Given the description of an element on the screen output the (x, y) to click on. 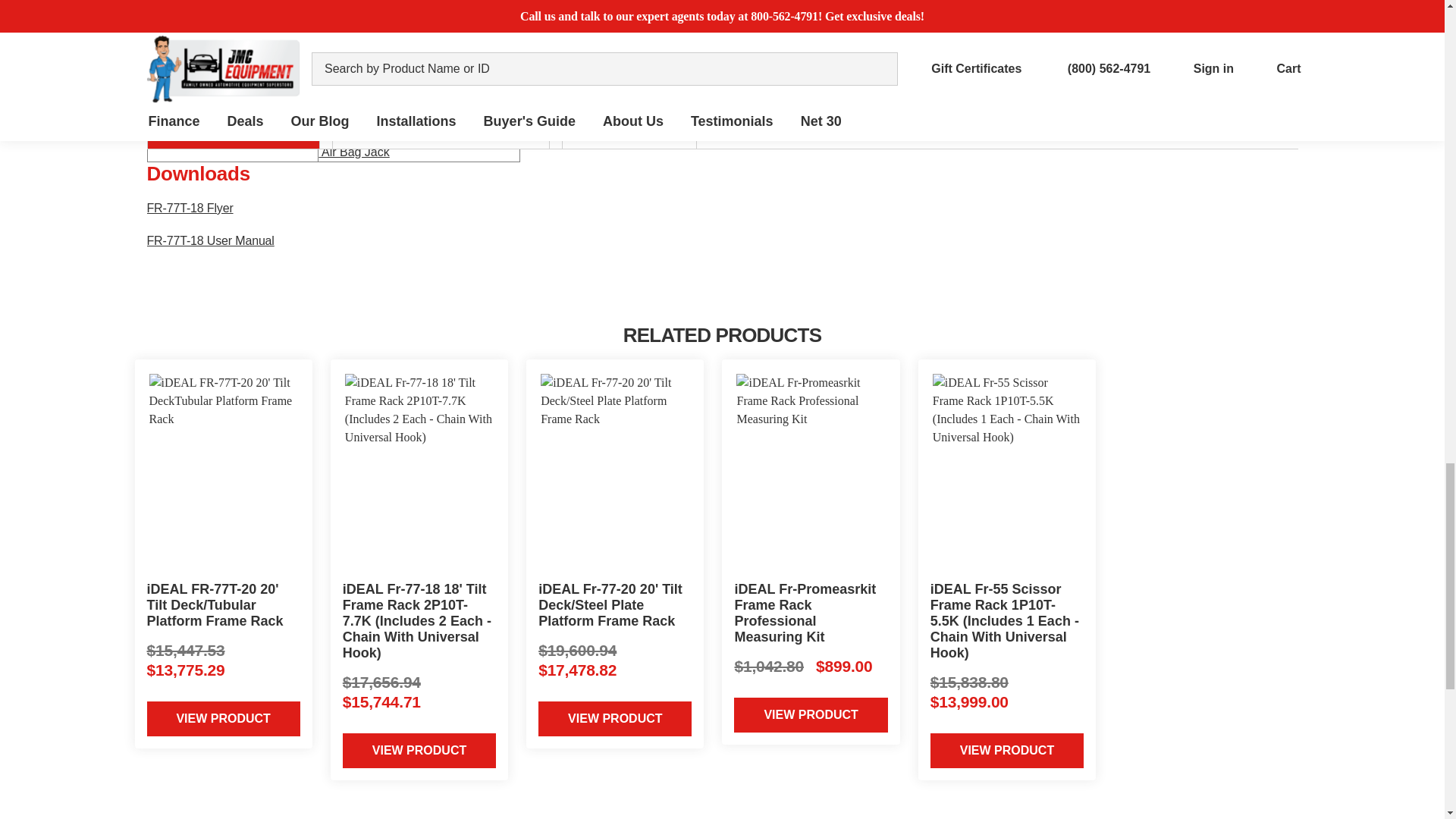
iDEAL FR-77T-20 20' Tilt DeckTubular Platform Frame Rack (222, 471)
iDEAL Fr-Promeasrkit Frame Rack Professional Measuring Kit (810, 471)
